Given the description of an element on the screen output the (x, y) to click on. 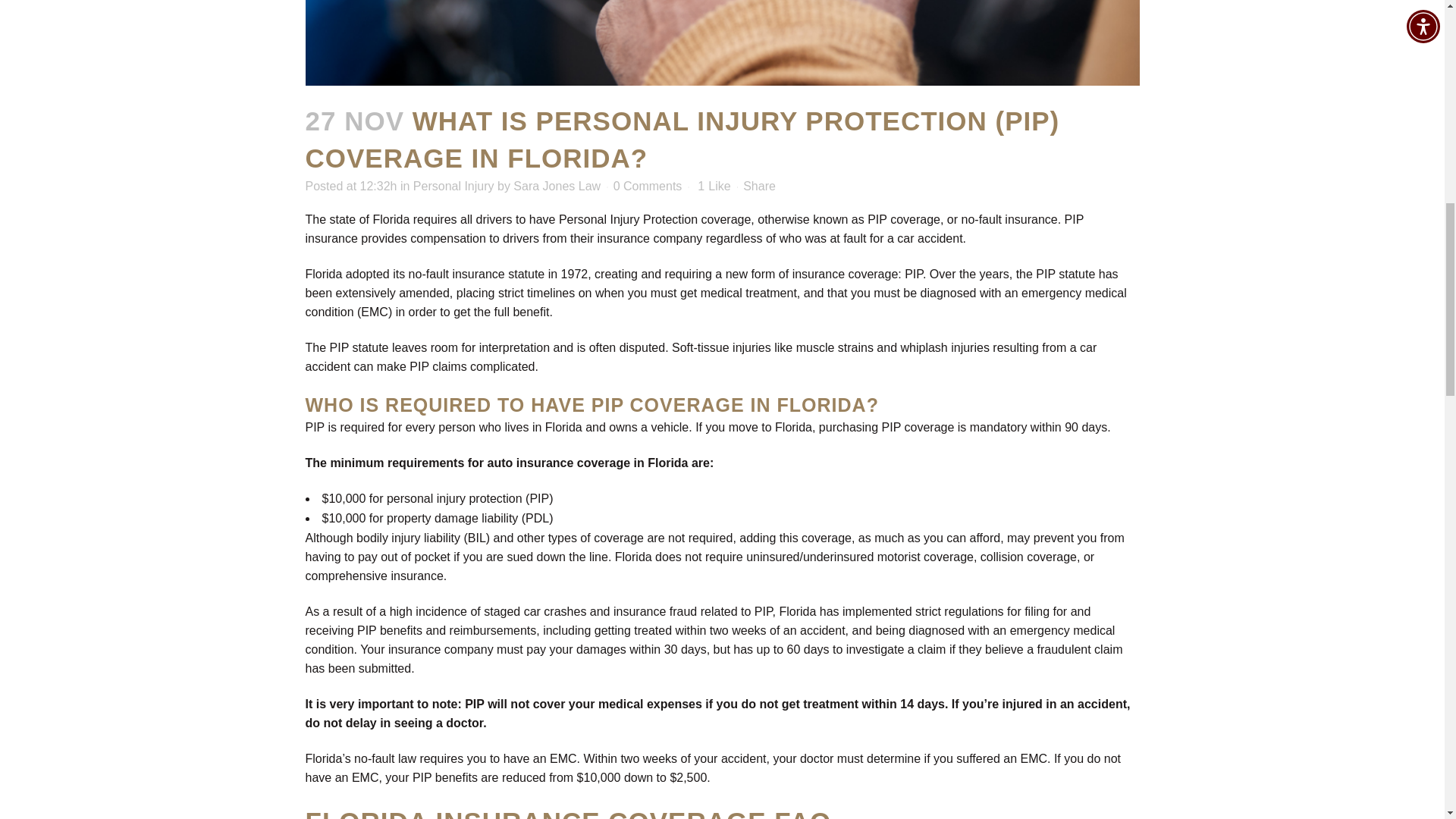
Sara Jones Law (556, 185)
Share (759, 185)
1 Like (713, 185)
0 Comments (647, 185)
Personal Injury (454, 185)
Like this (713, 185)
